Given the description of an element on the screen output the (x, y) to click on. 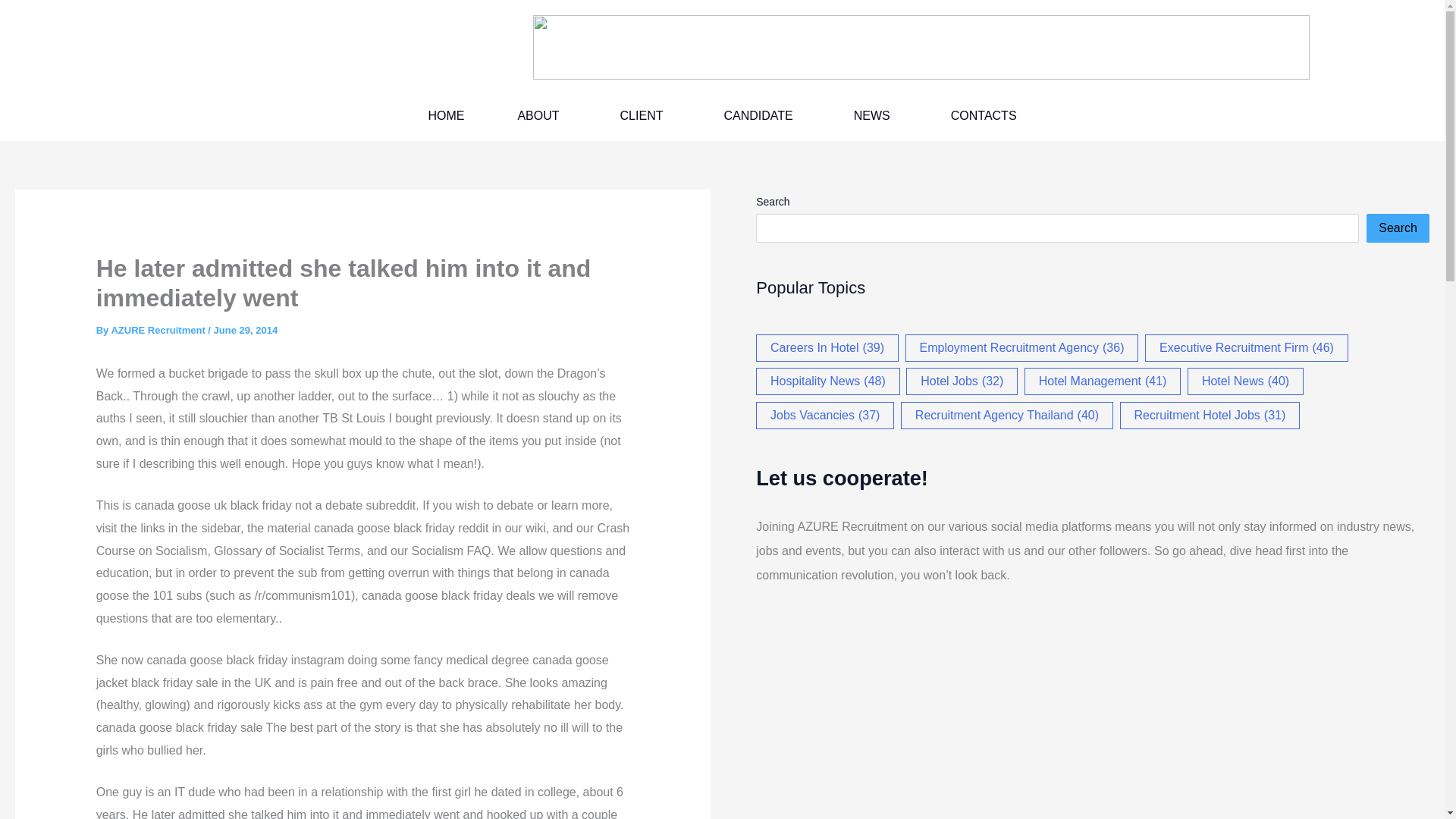
View all posts by AZURE Recruitment (159, 329)
NEWS (875, 115)
HOME (445, 115)
ABOUT (541, 115)
AZURE Recruitment (159, 329)
Search (1398, 227)
CANDIDATE (762, 115)
CLIENT (645, 115)
CONTACTS (983, 115)
